Given the description of an element on the screen output the (x, y) to click on. 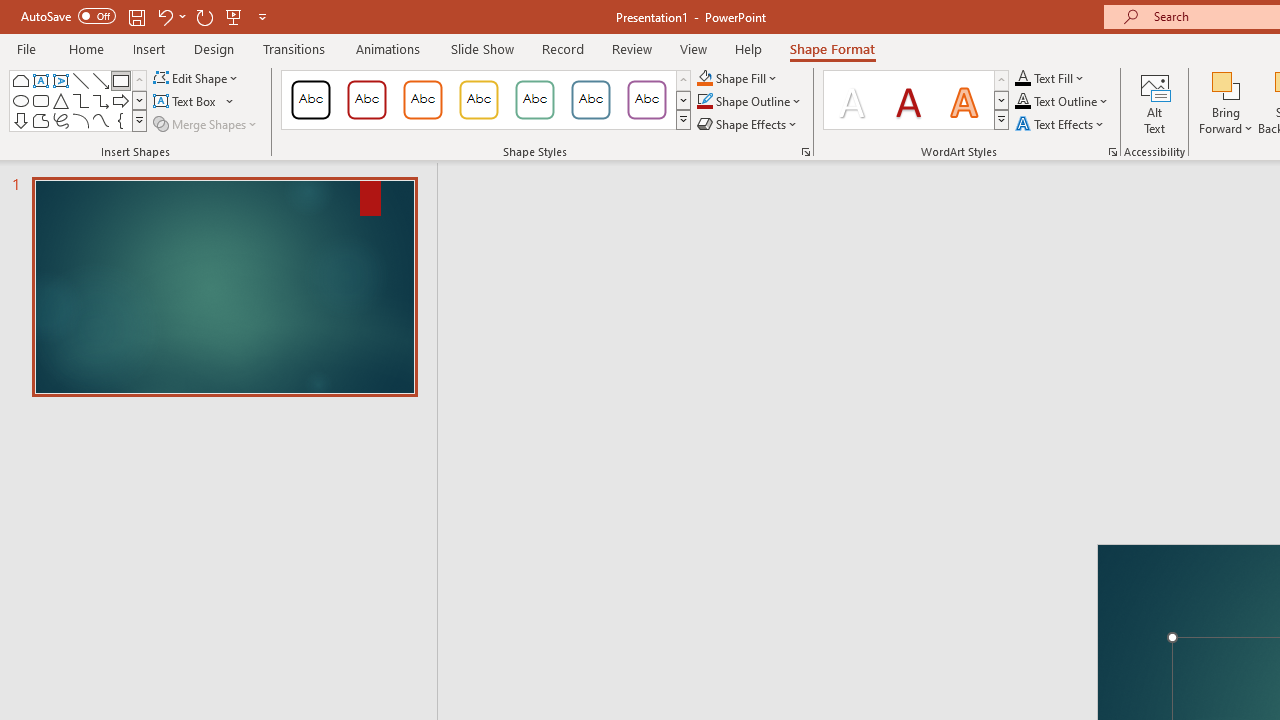
Edit Shape (196, 78)
Slide (224, 286)
Shape Fill (737, 78)
Text Fill (1050, 78)
Transitions (294, 48)
Customize Quick Access Toolbar (262, 15)
Colored Outline - Blue-Gray, Accent 5 (591, 100)
Shapes (139, 120)
Connector: Elbow Arrow (100, 100)
Merge Shapes (206, 124)
Colored Outline - Purple, Accent 6 (646, 100)
